Given the description of an element on the screen output the (x, y) to click on. 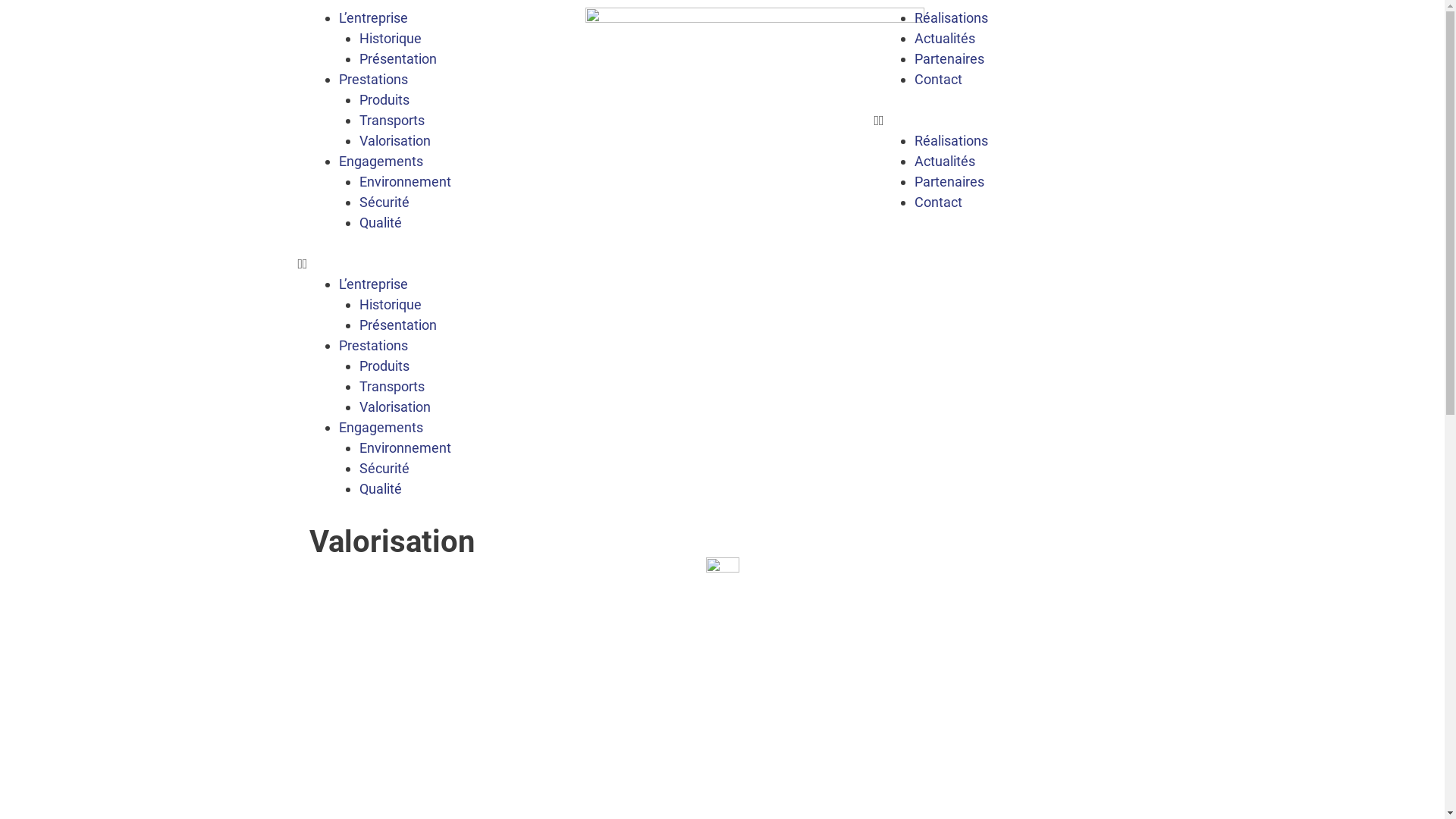
Environnement Element type: text (405, 447)
Contact Element type: text (938, 202)
Valorisation Element type: text (394, 140)
Prestations Element type: text (372, 345)
Produits Element type: text (384, 365)
Environnement Element type: text (405, 181)
Produits Element type: text (384, 99)
Valorisation Element type: text (394, 406)
Historique Element type: text (390, 38)
Prestations Element type: text (372, 79)
Historique Element type: text (390, 304)
Engagements Element type: text (380, 427)
Transports Element type: text (391, 386)
Partenaires Element type: text (949, 58)
Transports Element type: text (391, 120)
Partenaires Element type: text (949, 181)
Engagements Element type: text (380, 161)
Contact Element type: text (938, 79)
